Given the description of an element on the screen output the (x, y) to click on. 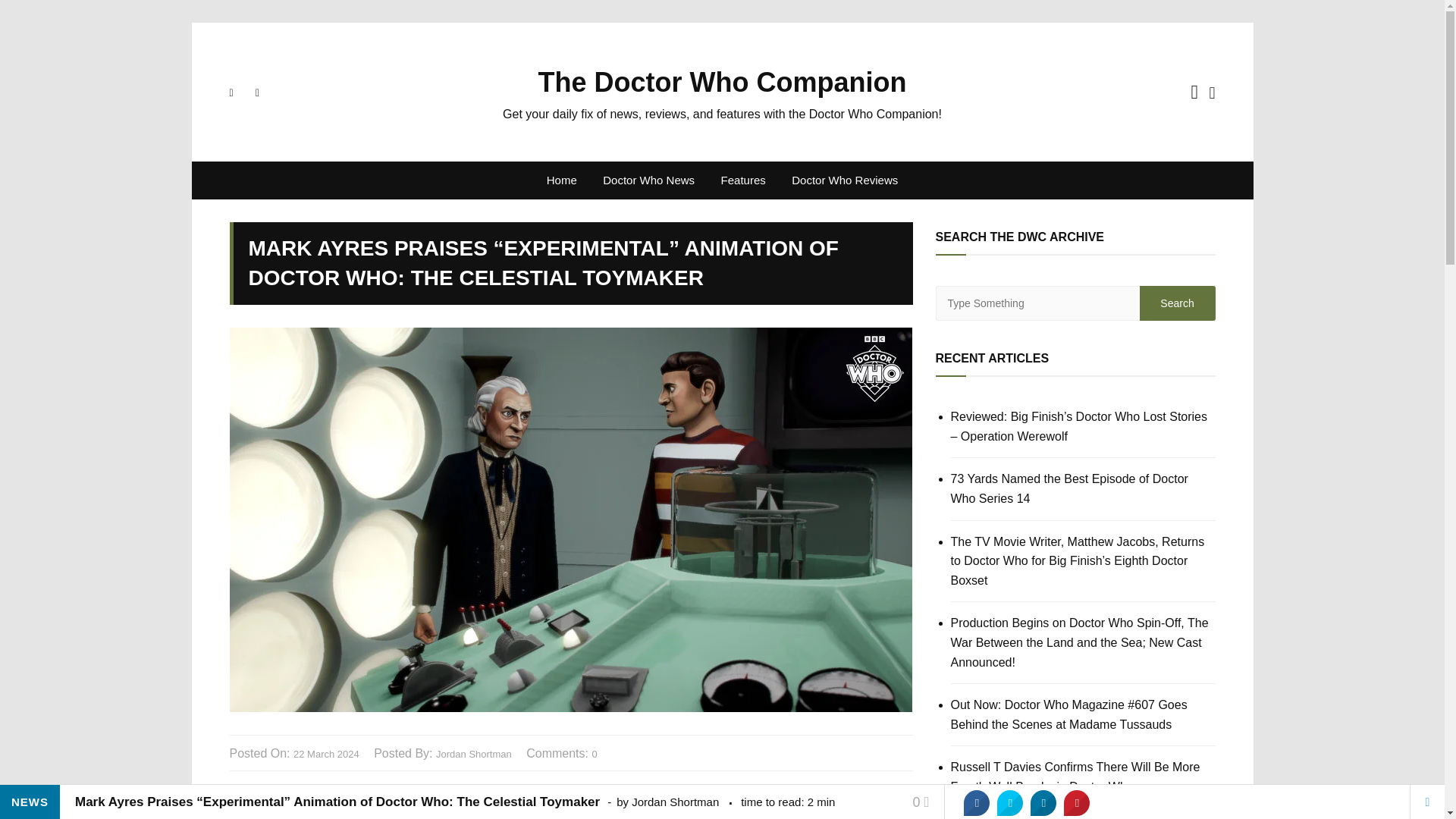
Share on Twitter (1010, 802)
Doctor Who News (648, 180)
Doctor Who Reviews (844, 180)
Share on Facebook (976, 802)
Share on Pinterest (1076, 802)
Features (743, 180)
The Doctor Who Companion (722, 81)
Home (561, 180)
Search (1176, 303)
Share on Linkedin (1043, 802)
